Given the description of an element on the screen output the (x, y) to click on. 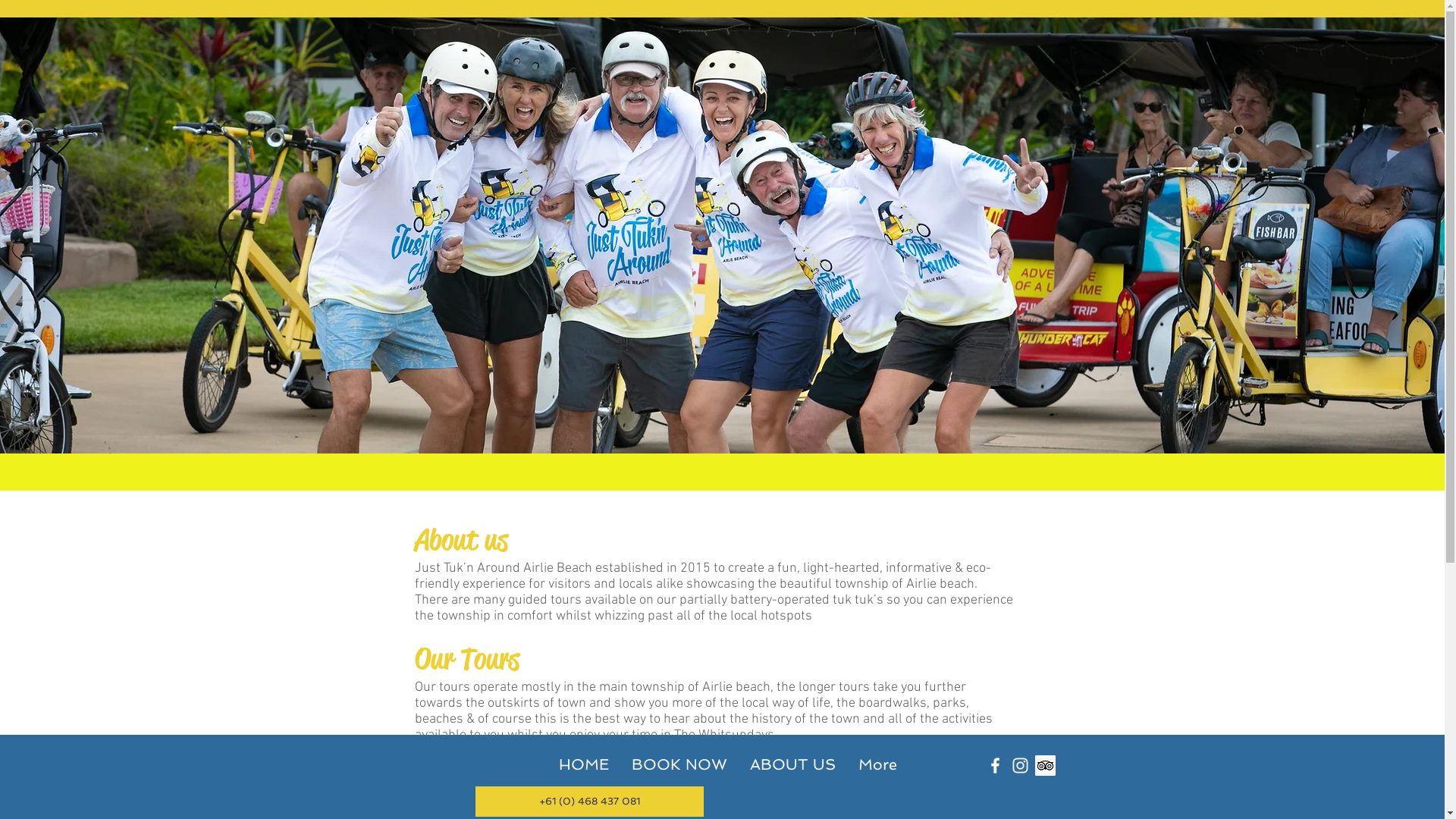
ABOUT US Element type: text (792, 764)
+61 (0) 468 437 081 Element type: text (588, 801)
BOOK NOW Element type: text (679, 764)
HOME Element type: text (583, 764)
